Given the description of an element on the screen output the (x, y) to click on. 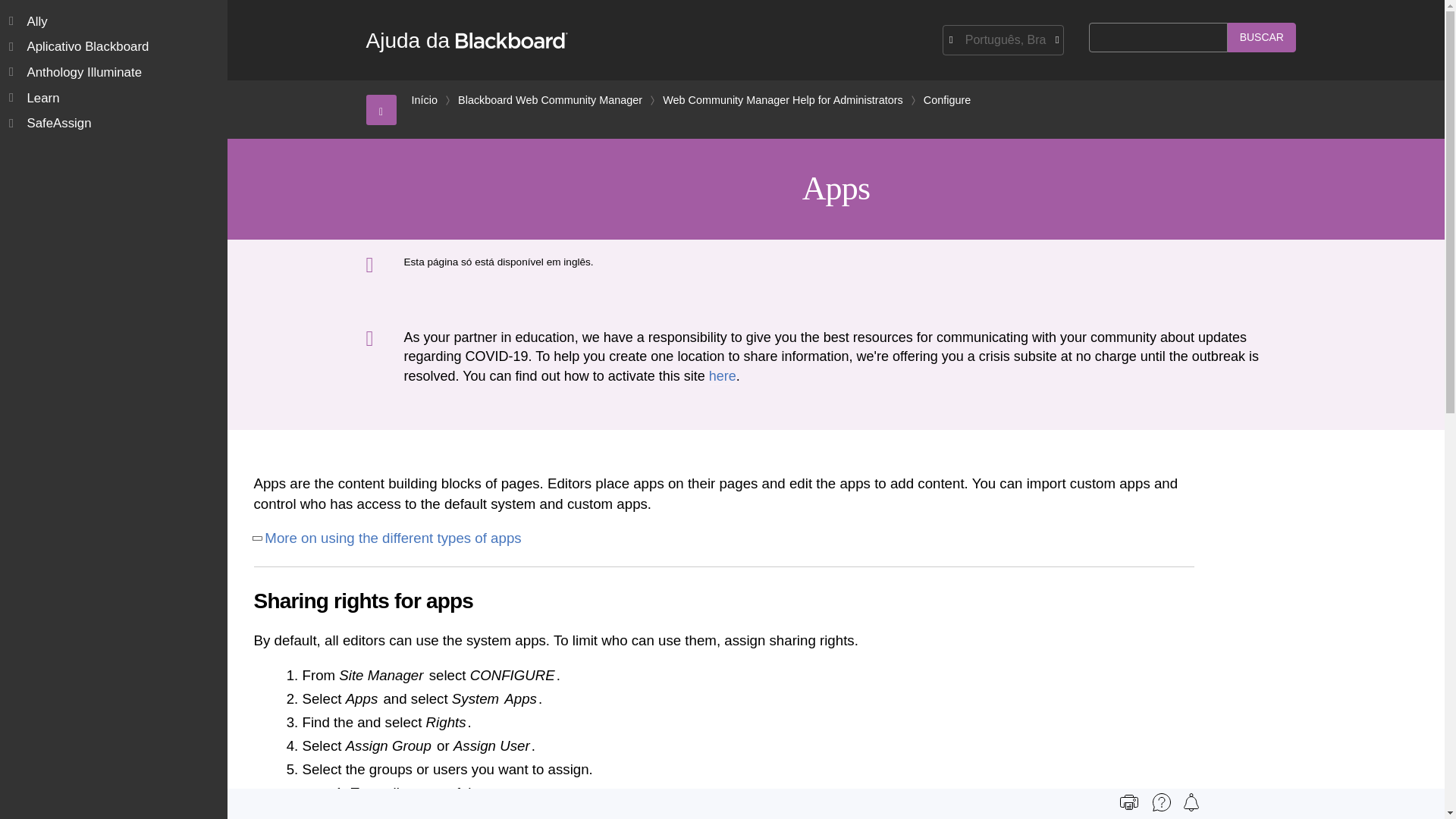
Buscar (1261, 37)
Web Community Manager Help for Administrators (782, 99)
Buscar (1261, 37)
Configure (947, 99)
Blackboard Web Community Manager (550, 99)
Ajuda da Blackboard (466, 40)
